Given the description of an element on the screen output the (x, y) to click on. 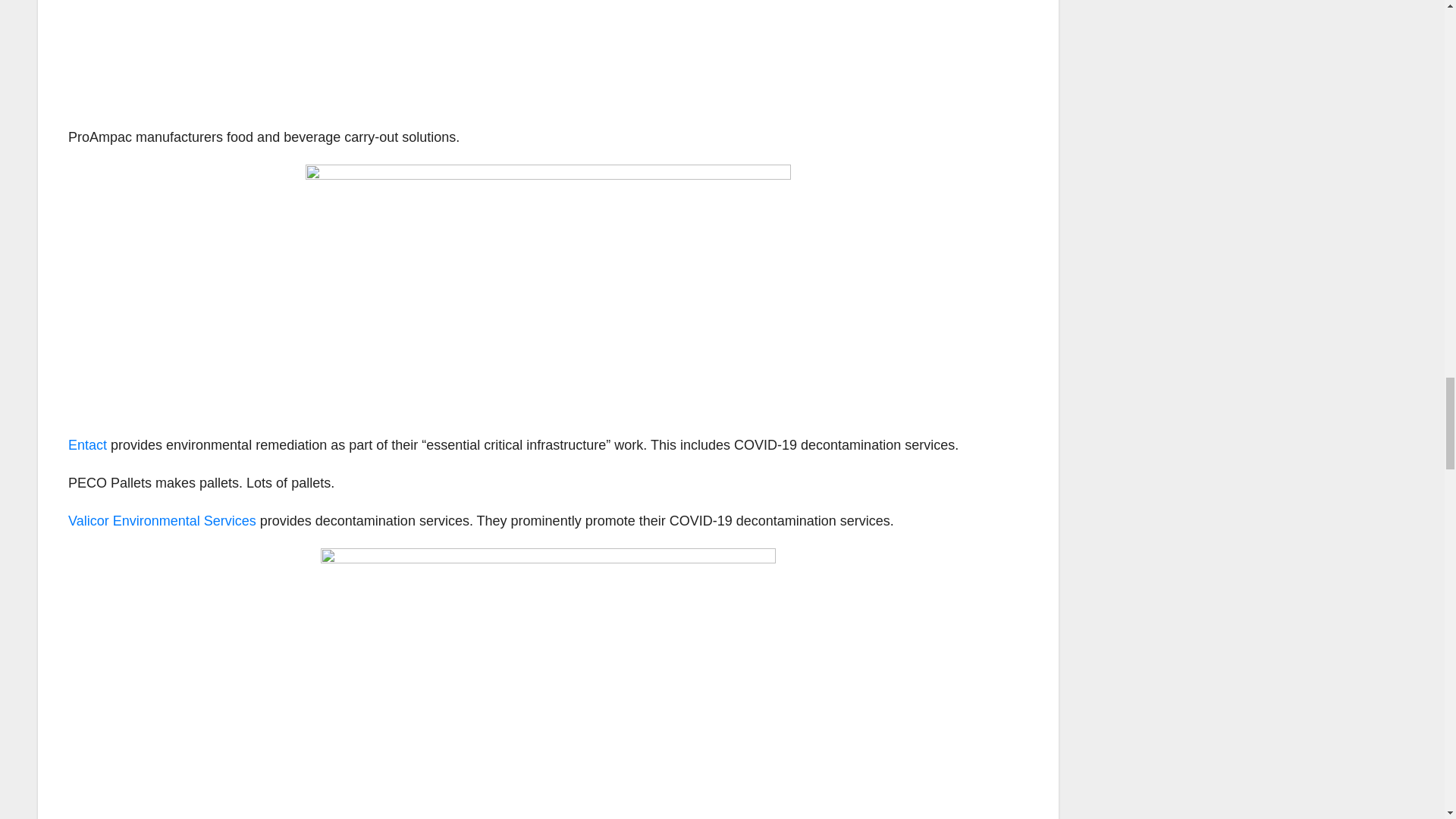
Valicor Environmental Services (162, 520)
Embedded post (258, 52)
Entact (87, 444)
